Given the description of an element on the screen output the (x, y) to click on. 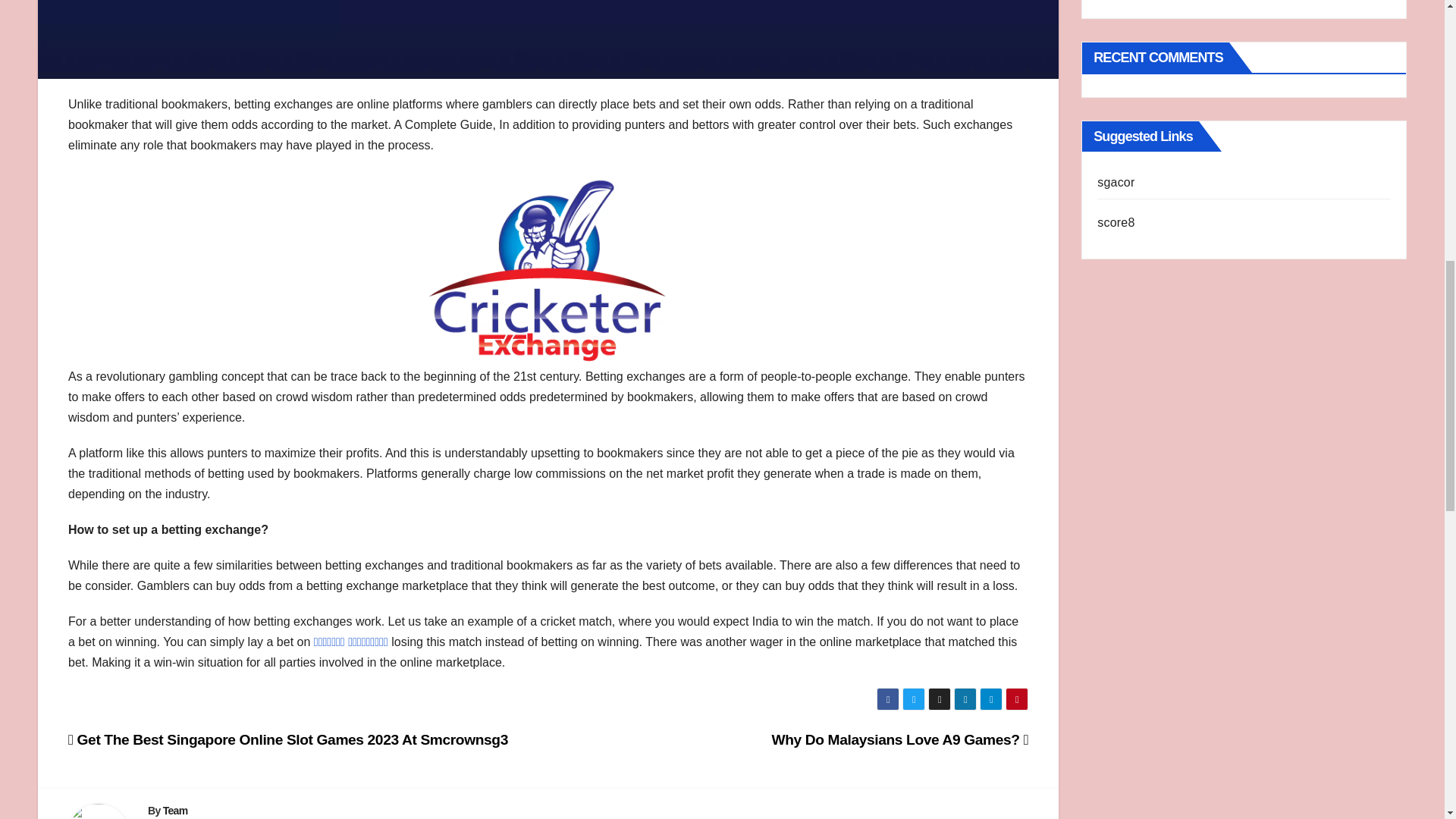
Why Do Malaysians Love A9 Games? (900, 739)
Get The Best Singapore Online Slot Games 2023 At Smcrownsg3 (288, 739)
Team (175, 810)
